Given the description of an element on the screen output the (x, y) to click on. 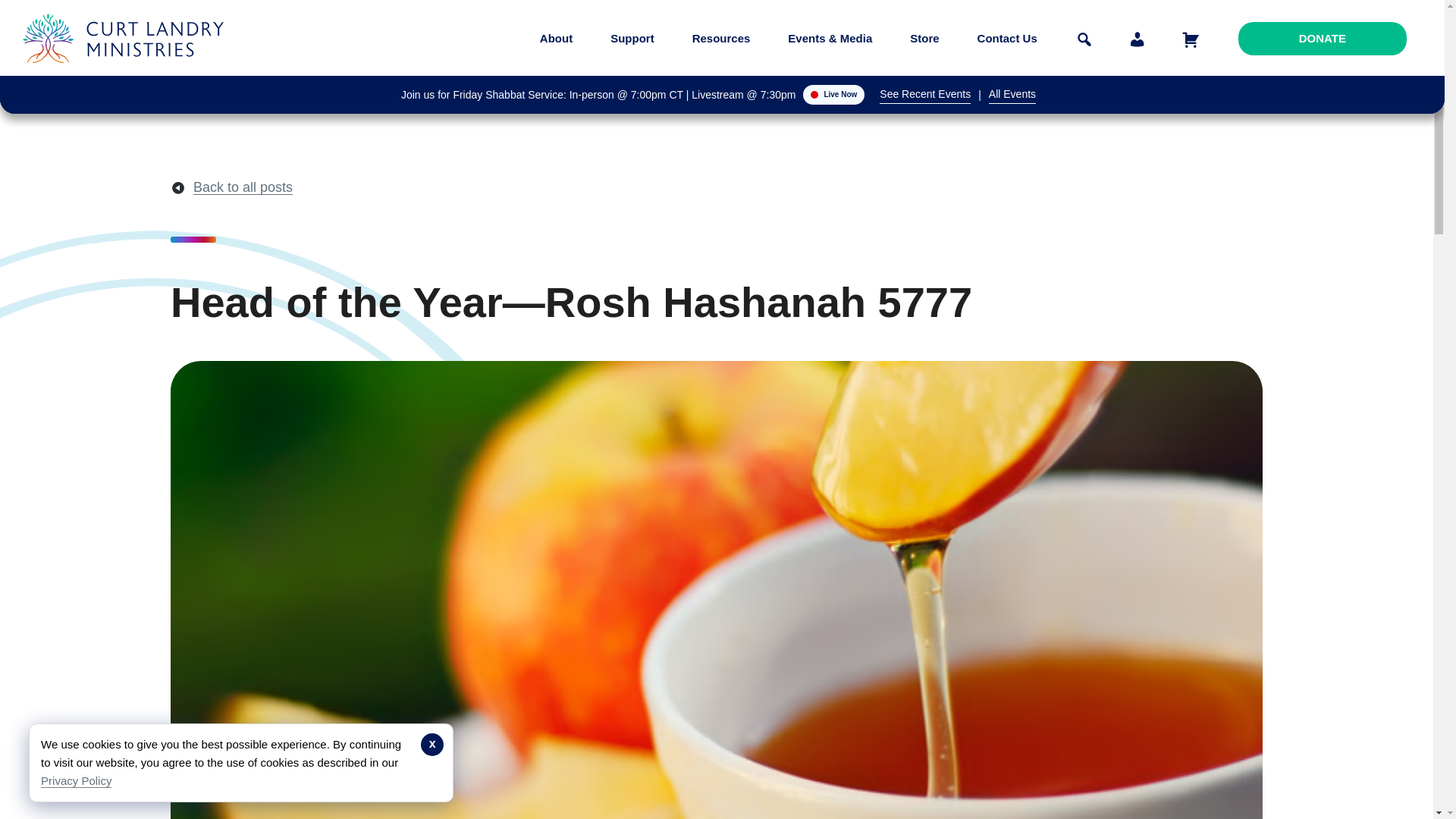
Support (631, 38)
Store (924, 38)
About (556, 38)
Curt Landry Ministries (127, 74)
Resources (721, 38)
